Given the description of an element on the screen output the (x, y) to click on. 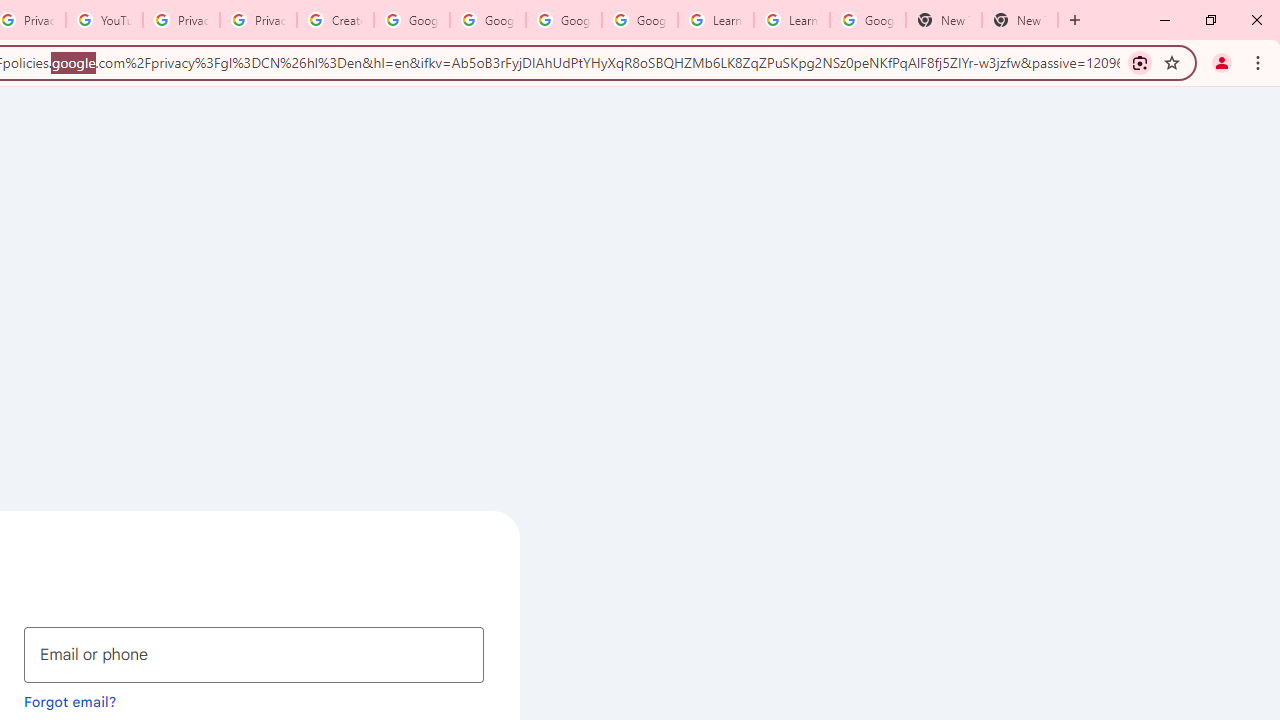
Create your Google Account (335, 20)
YouTube (104, 20)
Google Account Help (563, 20)
New Tab (1019, 20)
